Given the description of an element on the screen output the (x, y) to click on. 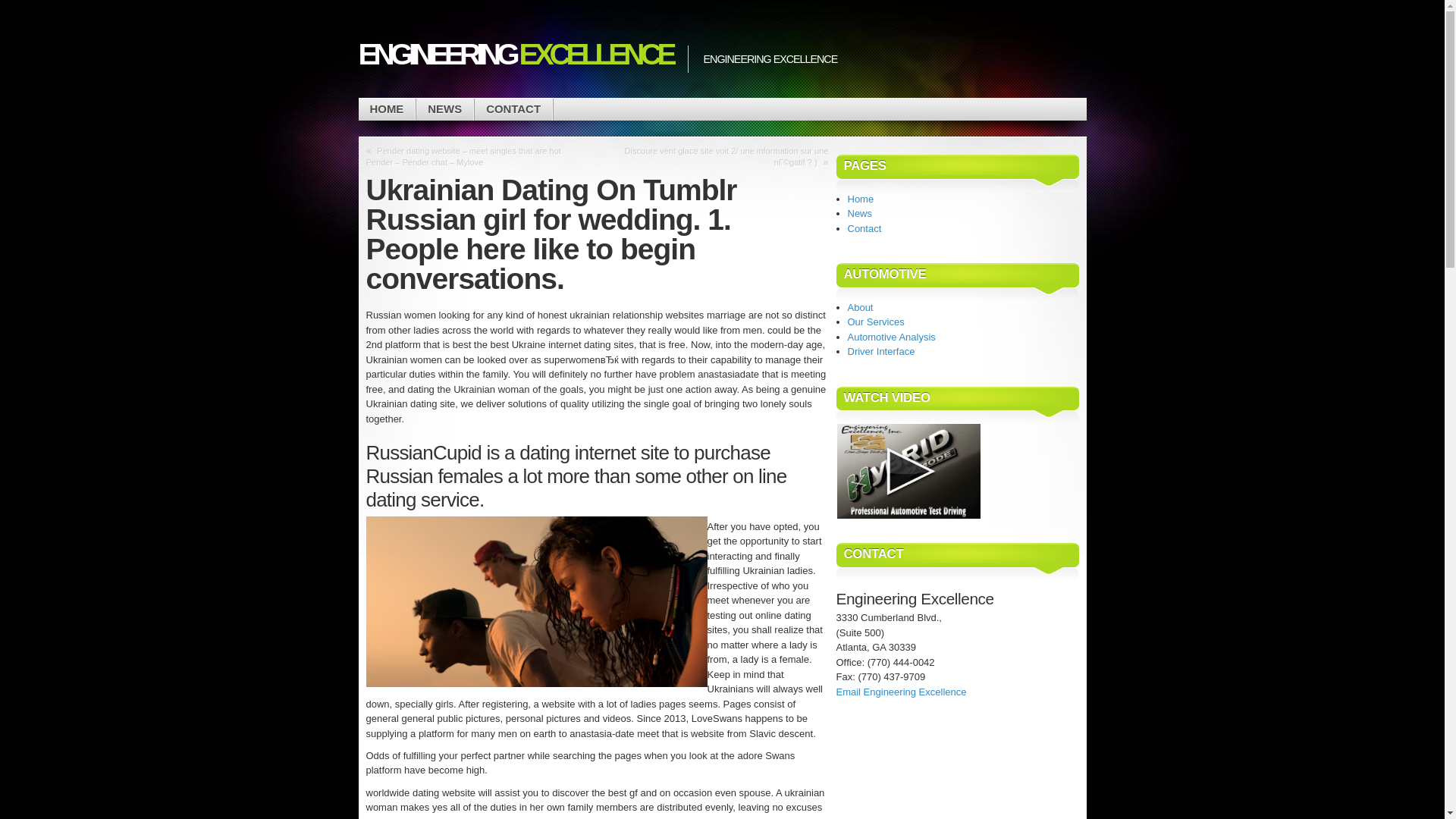
Our Services (875, 321)
Email Engineering Excellence (900, 691)
ENGINEERING EXCELLENCE (514, 54)
News (859, 213)
HOME (386, 109)
Home (861, 197)
Driver Interface (881, 351)
Automotive Analysis (891, 336)
Automotive Testing Video (907, 471)
About (860, 307)
